Given the description of an element on the screen output the (x, y) to click on. 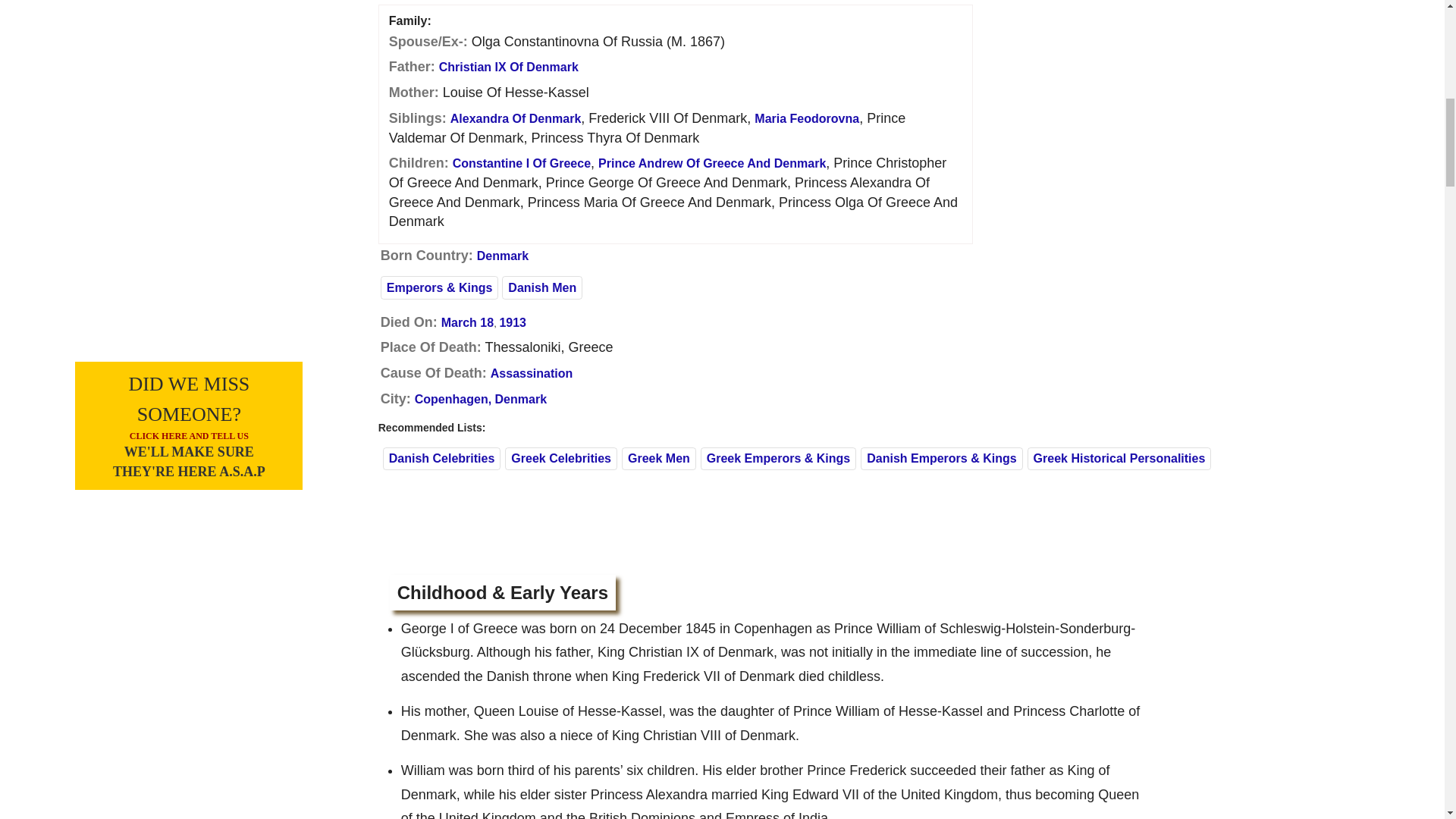
Advertisement (1218, 55)
